Given the description of an element on the screen output the (x, y) to click on. 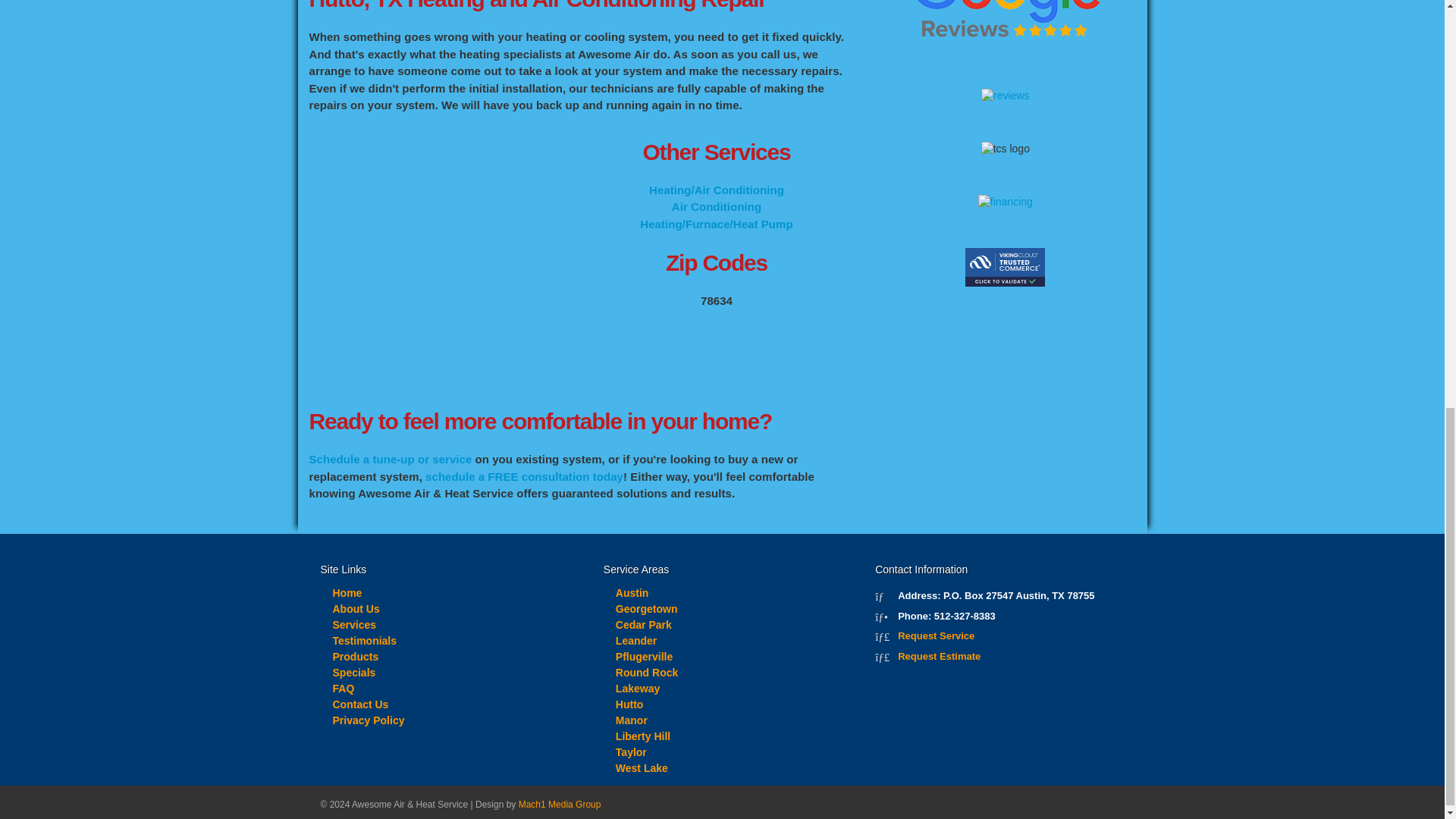
Specials (353, 672)
Contact Us (359, 704)
Cedar Park (643, 624)
Home (346, 592)
Georgetown (646, 608)
Austin (632, 592)
schedule a FREE consultation today (524, 476)
Leander (635, 640)
Products (354, 656)
Privacy Policy (367, 720)
Request Service (936, 635)
About Us (354, 608)
Services (353, 624)
Pflugerville (643, 656)
